Given the description of an element on the screen output the (x, y) to click on. 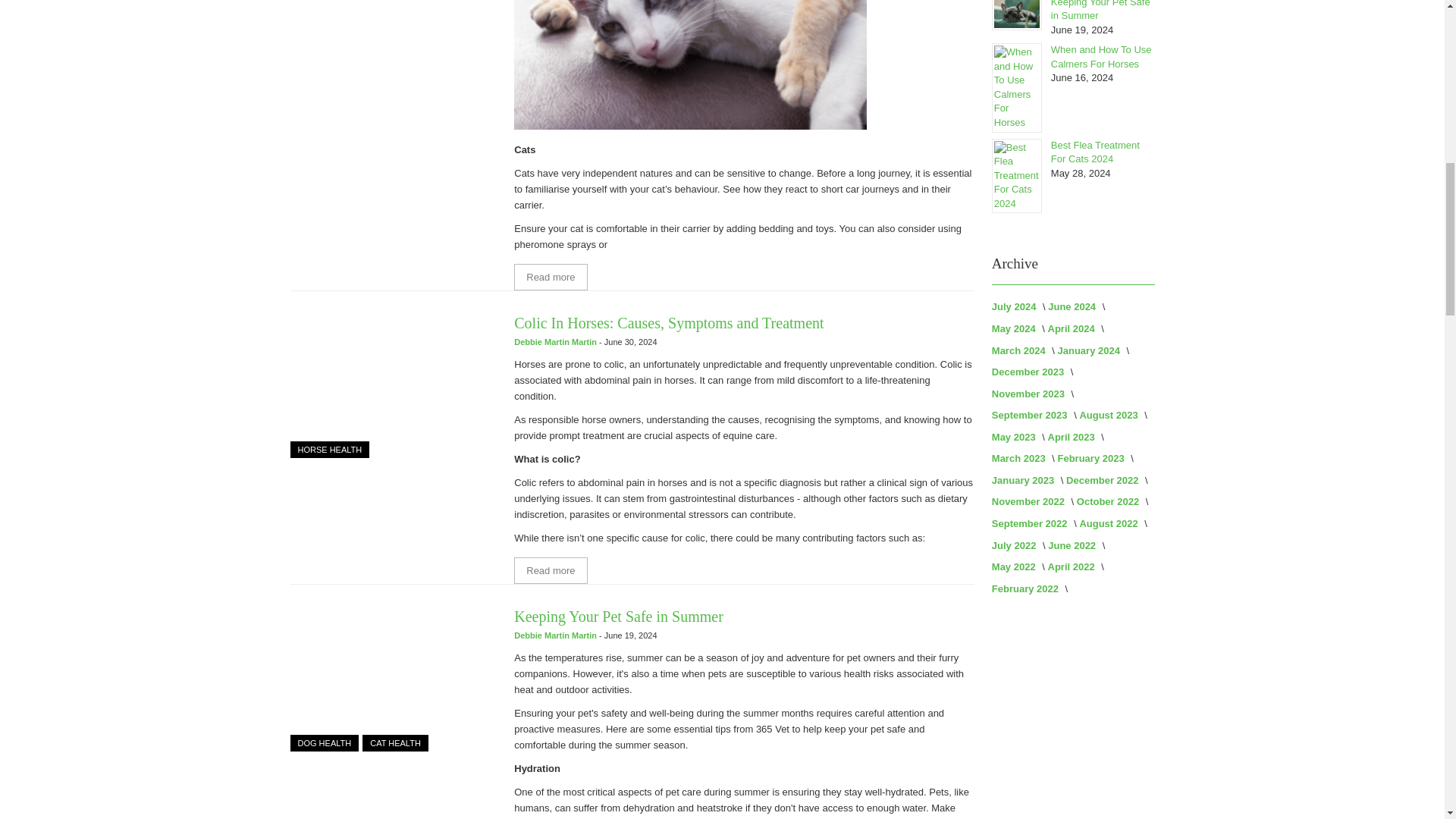
Horse Health (329, 449)
Debbie Martin Martin (555, 634)
How To Prepare Your Pet For Long Journeys (549, 276)
Colic In Horses: Causes, Symptoms and Treatment (392, 385)
Colic In Horses: Causes, Symptoms and Treatment (549, 570)
Dog Health (323, 742)
Debbie Martin Martin (555, 341)
Cat Health (395, 742)
Keeping Your Pet Safe in Summer (392, 679)
